Given the description of an element on the screen output the (x, y) to click on. 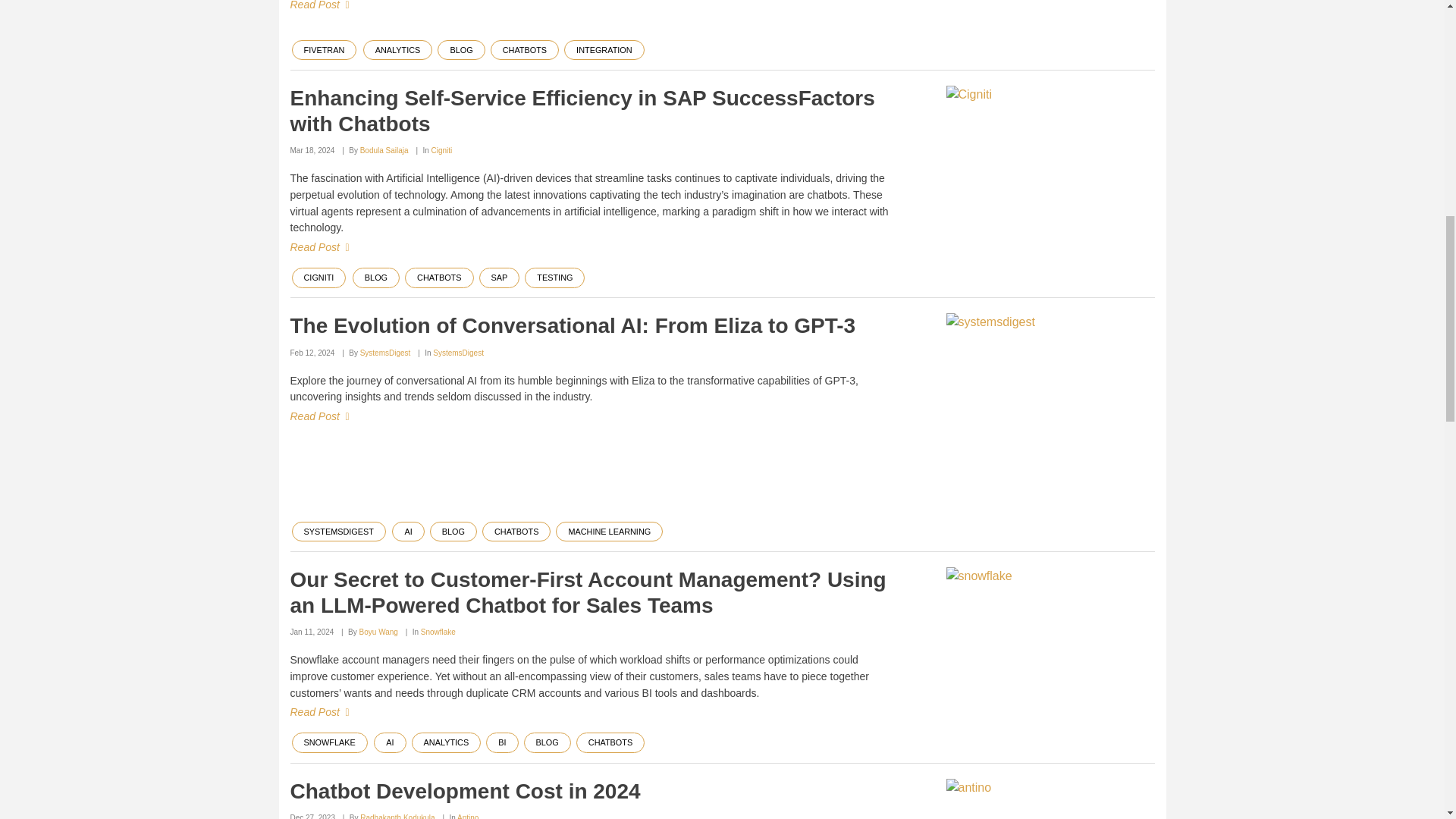
antino (1050, 798)
snowflake (1050, 626)
systemsdigest (1050, 399)
Cigniti (1050, 141)
fivetran (1050, 2)
